Given the description of an element on the screen output the (x, y) to click on. 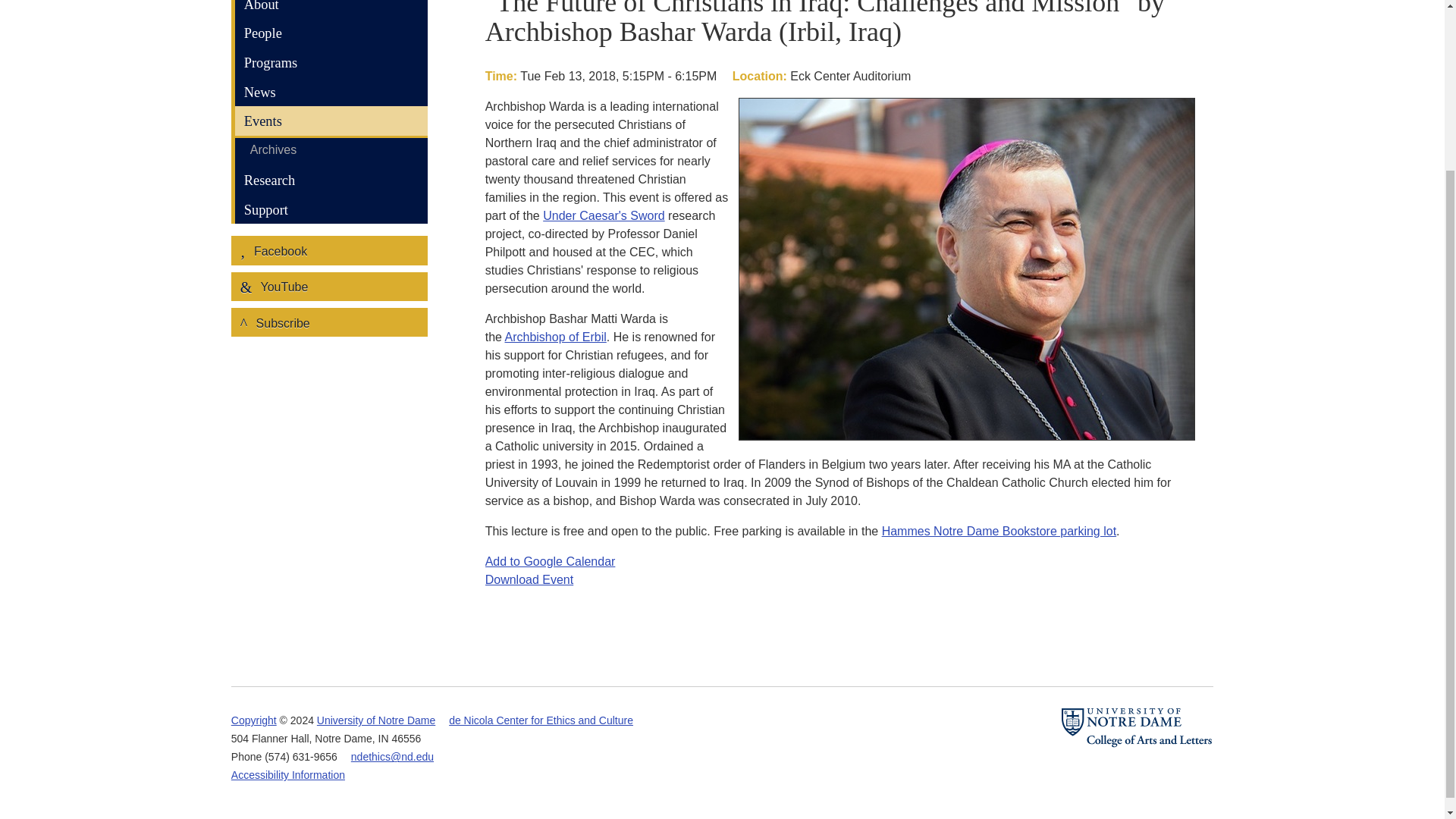
University of Notre Dame (376, 720)
News (331, 91)
Under Caesar's Sword (603, 215)
Support (331, 209)
Archives (331, 151)
Download Event (528, 579)
About (331, 9)
Research (331, 179)
Subscribe (329, 321)
Hammes Notre Dame Bookstore parking lot (999, 530)
Archbishop of Erbil (556, 336)
Add to Google Calendar (549, 561)
Events (331, 122)
YouTube (329, 286)
de Nicola Center for Ethics and Culture (540, 720)
